Given the description of an element on the screen output the (x, y) to click on. 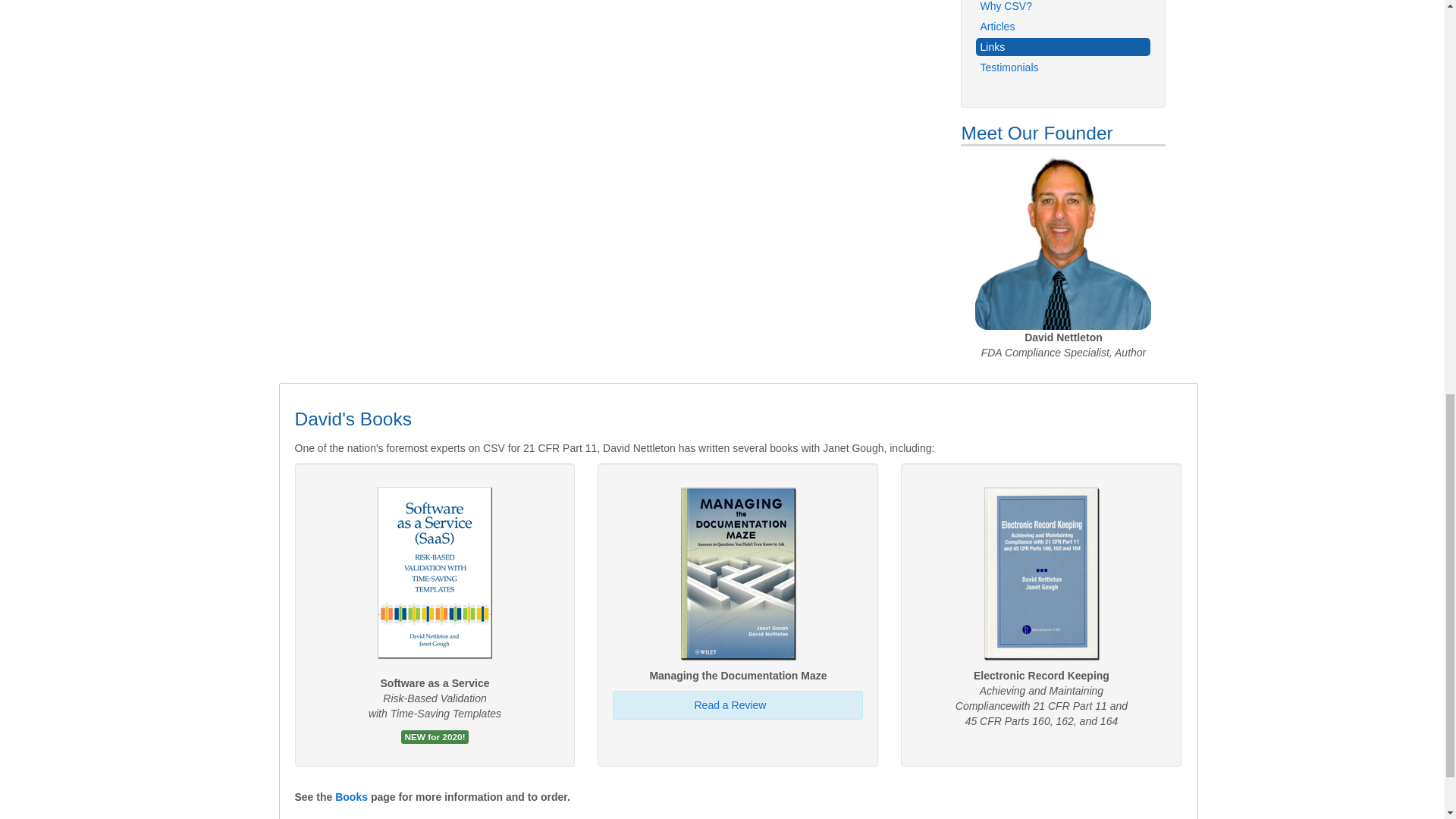
Testimonials (1062, 67)
Read a Review (729, 705)
Why CSV? (1062, 7)
Articles (1062, 26)
Books (351, 797)
David Nettleton (1063, 243)
Links (1062, 46)
